Given the description of an element on the screen output the (x, y) to click on. 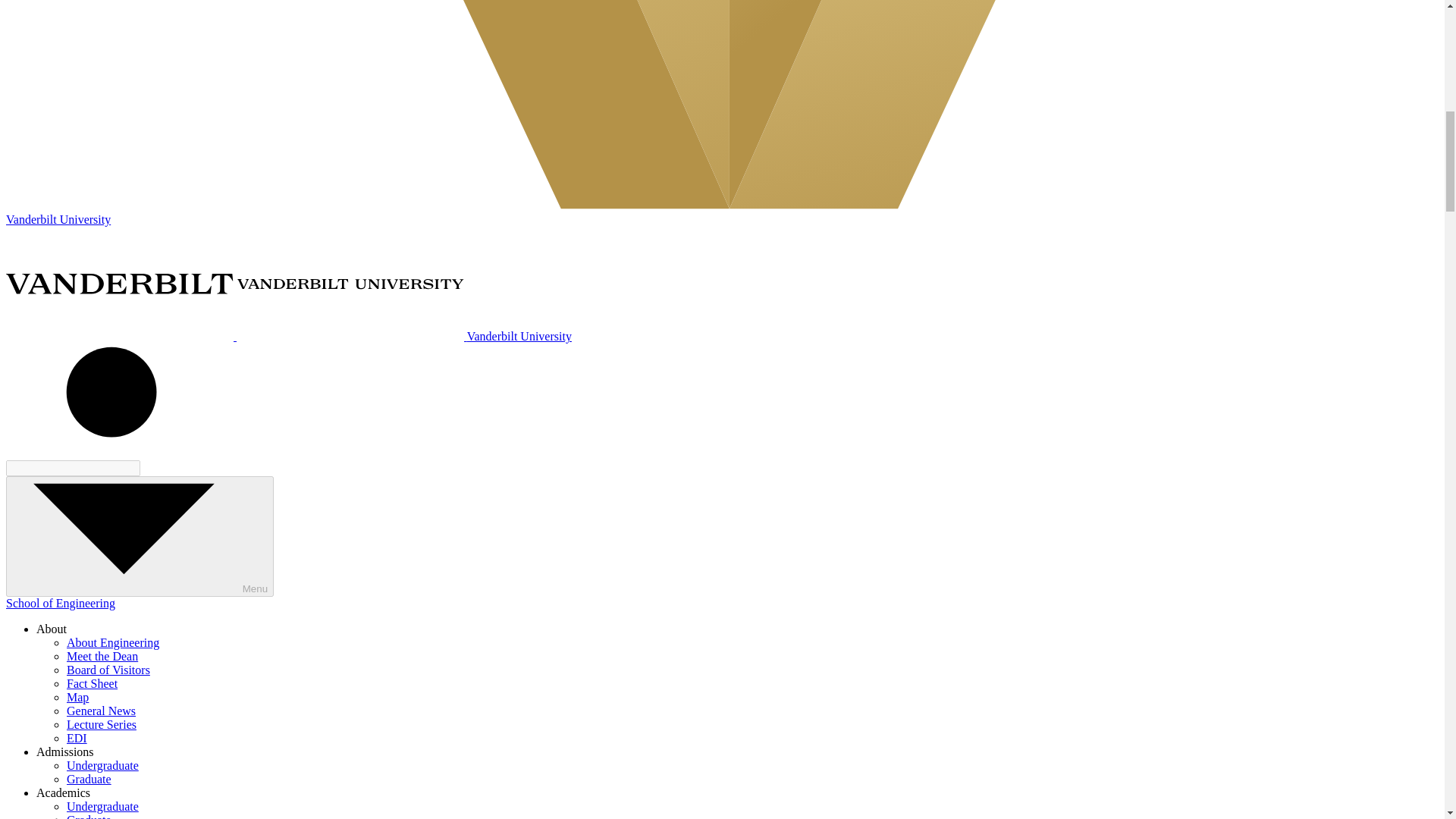
Fact Sheet (91, 683)
Graduate (89, 816)
School of Engineering (60, 603)
Undergraduate (102, 765)
EDI (76, 738)
Board of Visitors (107, 669)
Undergraduate (102, 806)
About (51, 628)
General News (100, 710)
About Engineering (112, 642)
Graduate (89, 779)
Academics (63, 792)
Admissions (65, 751)
Vanderbilt University (288, 336)
Meet the Dean (102, 656)
